Given the description of an element on the screen output the (x, y) to click on. 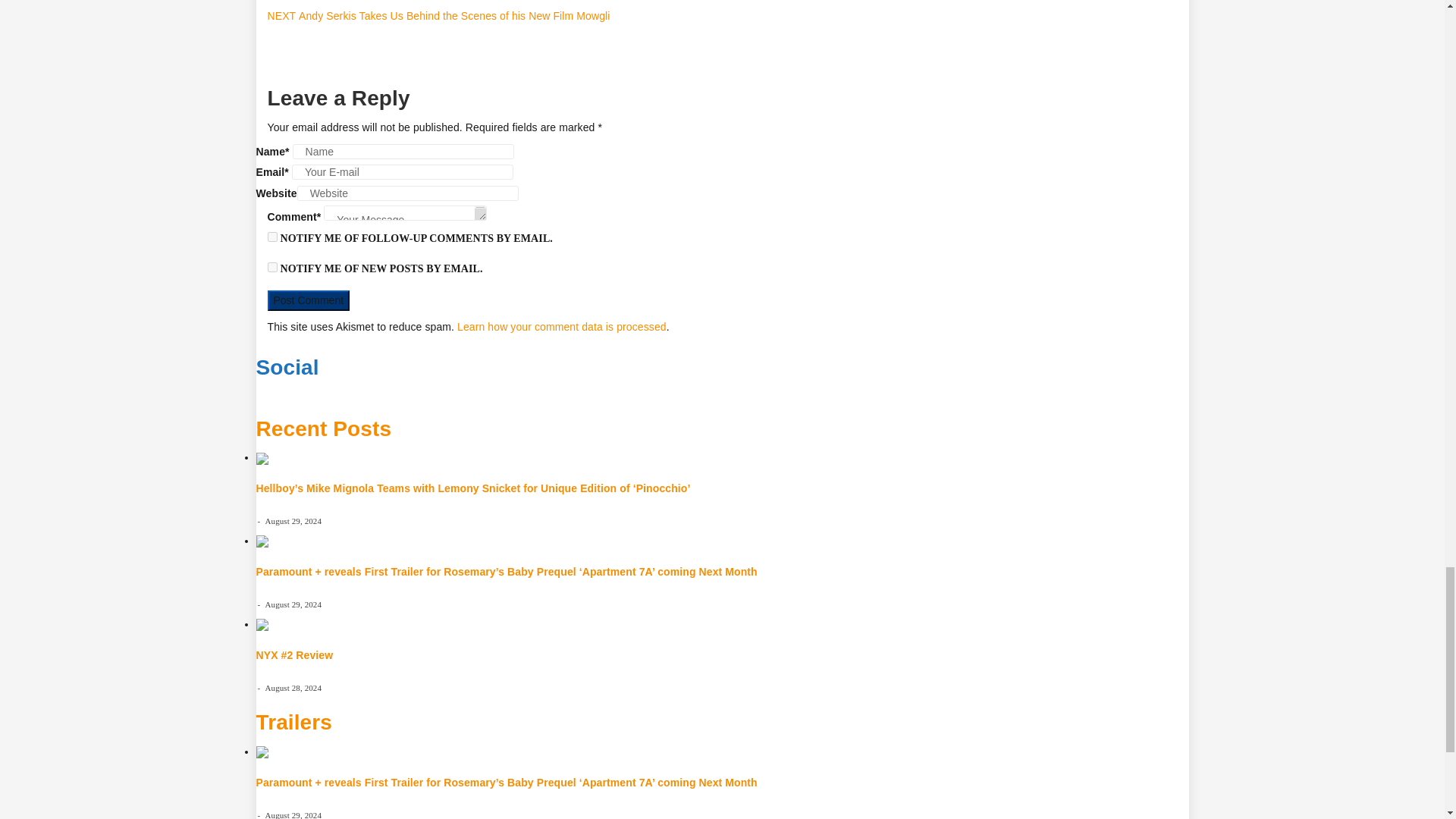
subscribe (271, 266)
Post Comment (307, 300)
subscribe (271, 236)
